Given the description of an element on the screen output the (x, y) to click on. 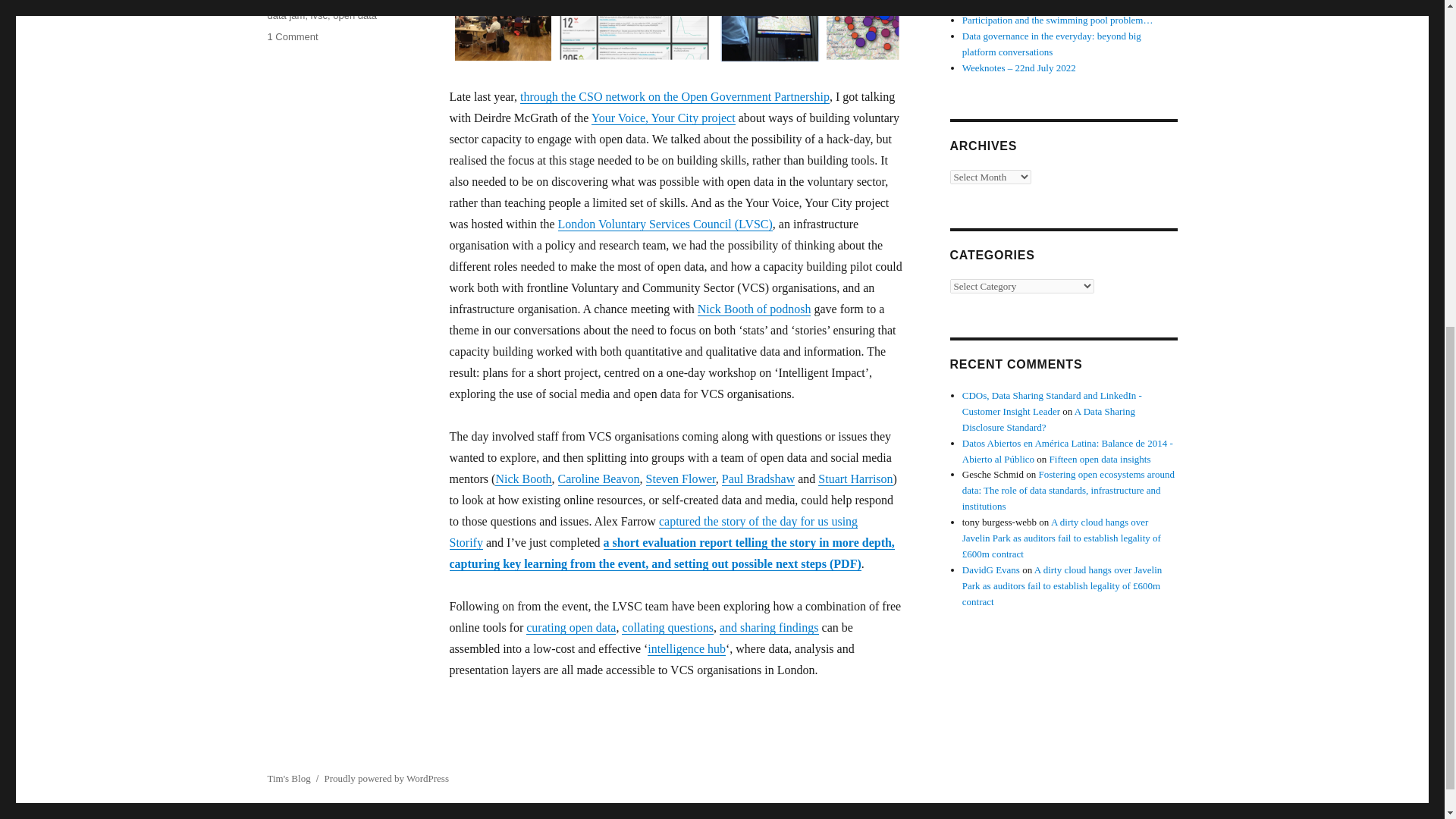
Your Voice, Your City project (663, 117)
data jam (285, 15)
A Data Sharing Disclosure Standard? (1048, 419)
Reflections on two reunions (1017, 4)
Paul Bradshaw (758, 478)
captured the story of the day for us using Storify (652, 531)
Caroline Beavon (598, 478)
and sharing findings (768, 626)
Nick Booth of podnosh (753, 308)
